Given the description of an element on the screen output the (x, y) to click on. 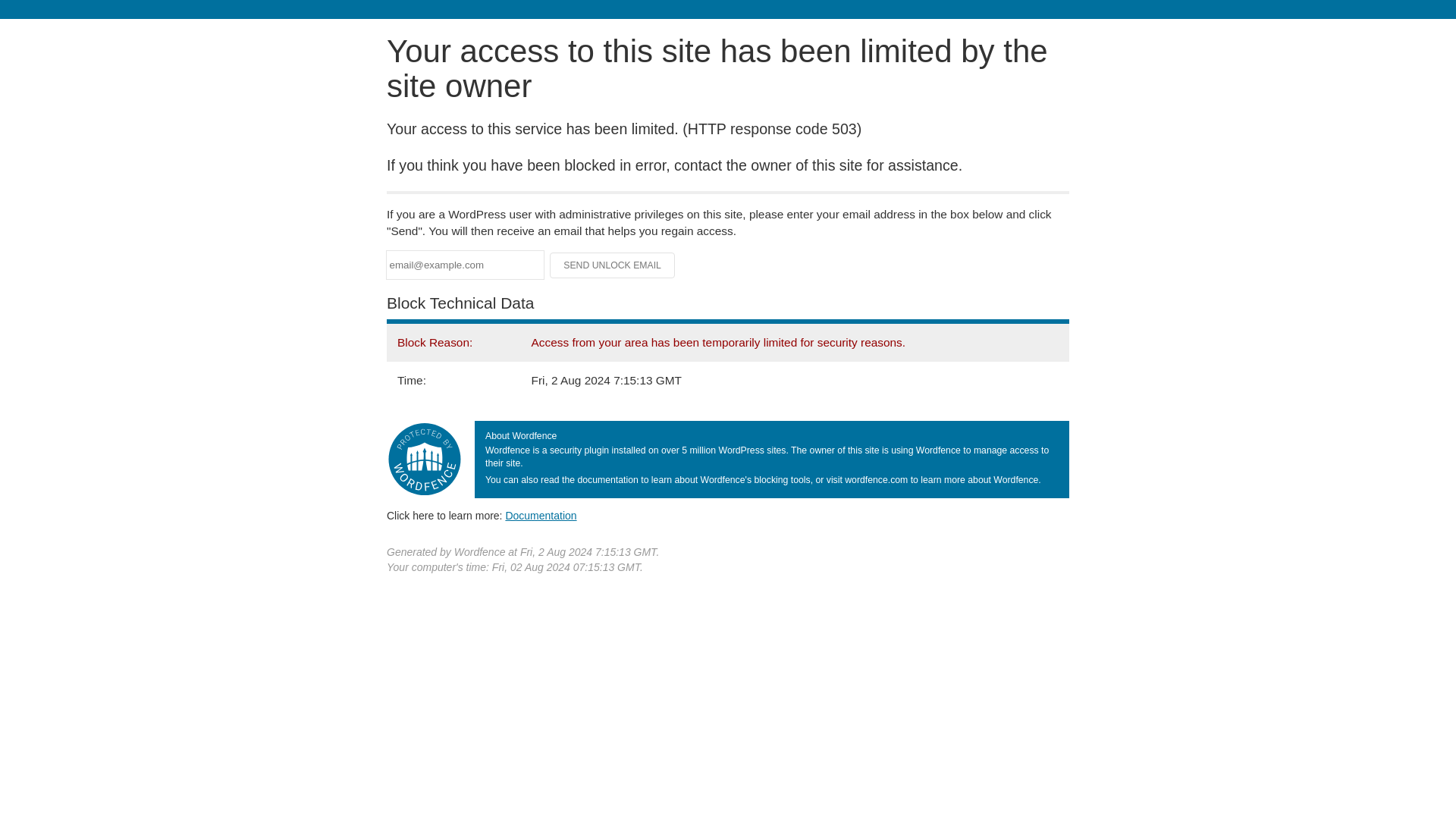
Send Unlock Email (612, 265)
Send Unlock Email (612, 265)
Documentation (540, 515)
